Given the description of an element on the screen output the (x, y) to click on. 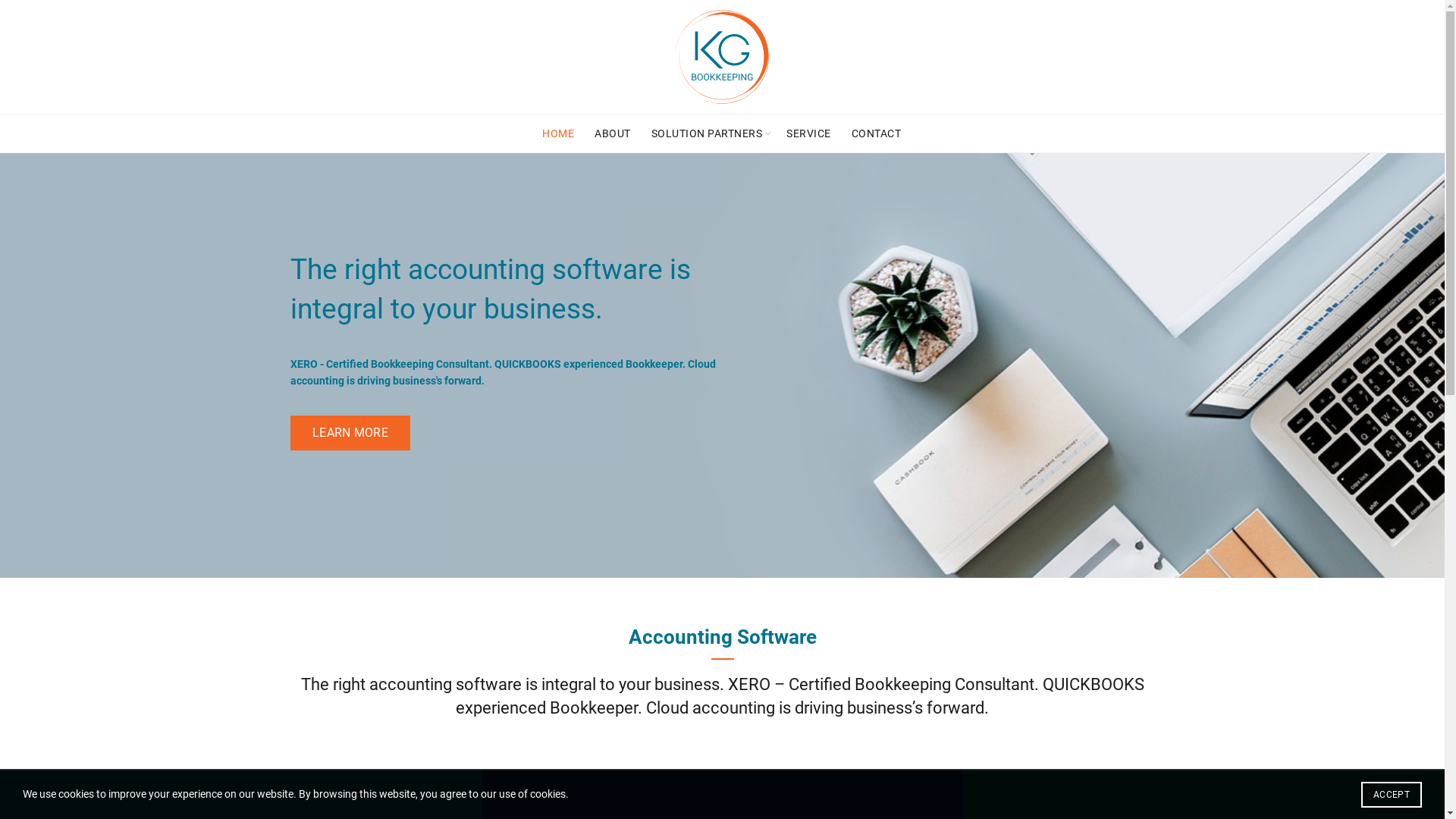
ACCEPT Element type: text (1391, 794)
LEARN MORE Element type: text (349, 433)
SERVICE Element type: text (808, 133)
CONTACT Element type: text (876, 133)
HOME Element type: text (557, 133)
ABOUT Element type: text (612, 133)
SOLUTION PARTNERS Element type: text (706, 133)
